Given the description of an element on the screen output the (x, y) to click on. 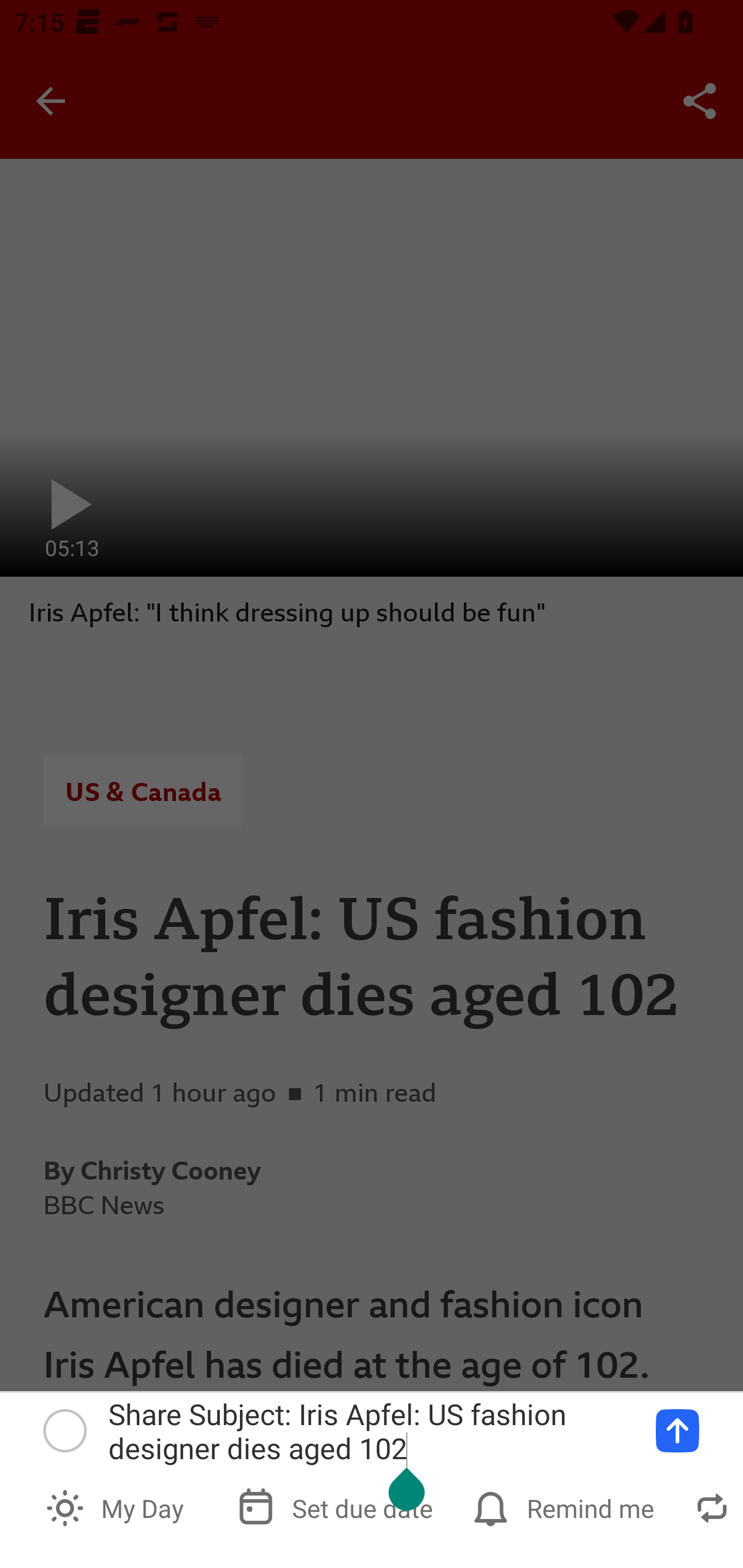
Add a task (676, 1430)
My Day (116, 1507)
Set due date (337, 1507)
Remind me (565, 1507)
